Given the description of an element on the screen output the (x, y) to click on. 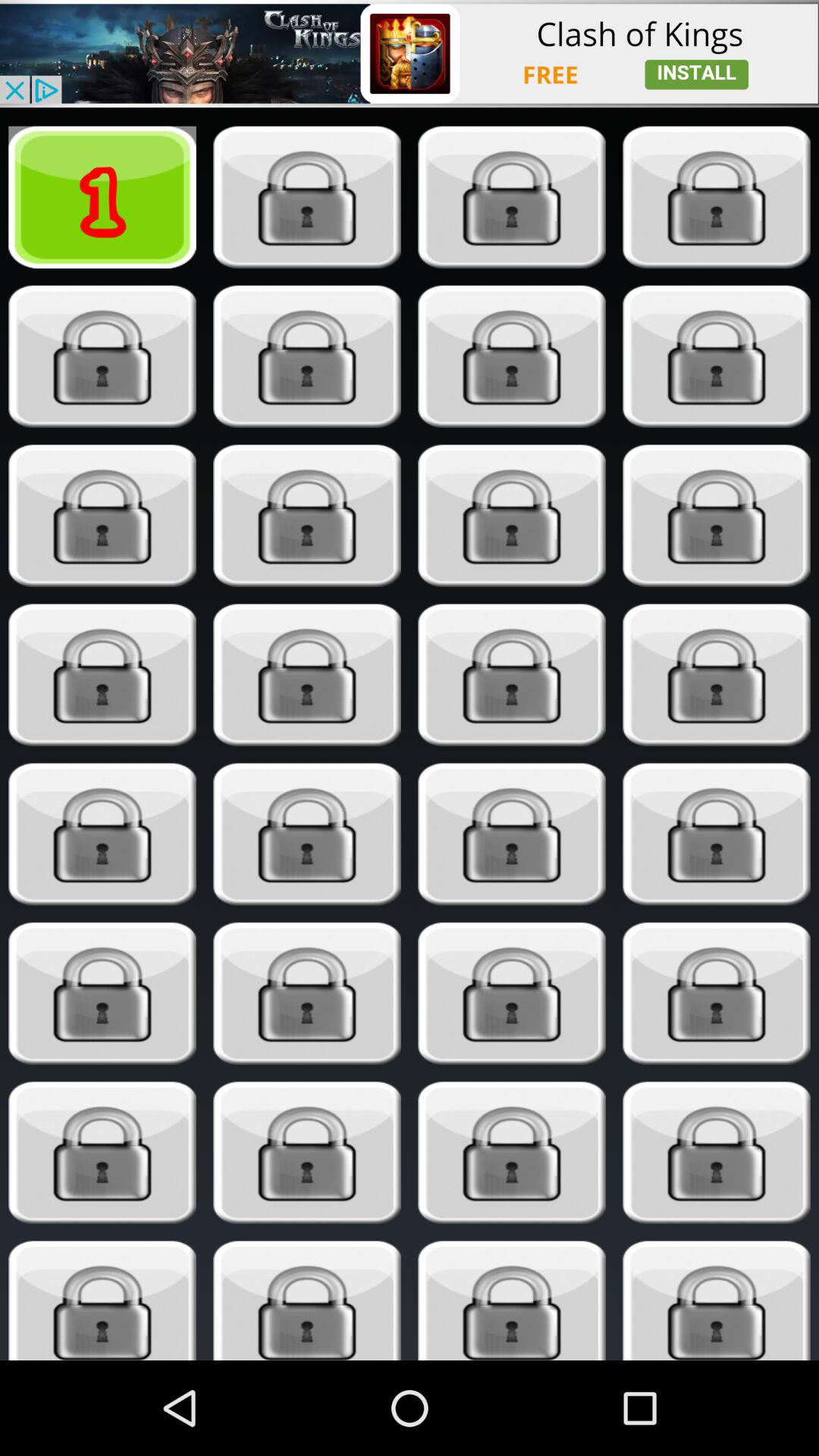
click to select (716, 993)
